Given the description of an element on the screen output the (x, y) to click on. 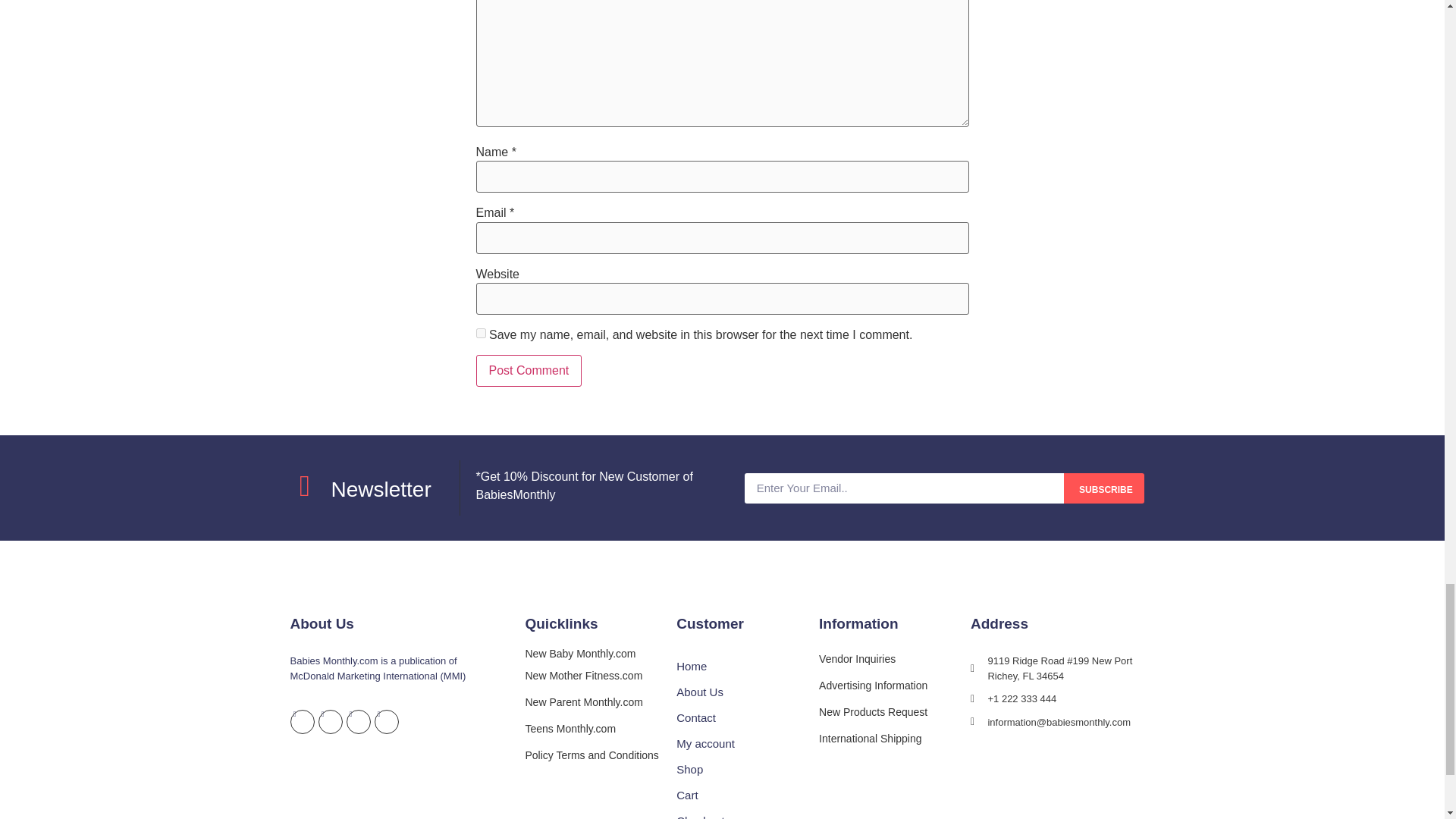
New Mother Fitness.com (583, 675)
Teens Monthly.com (569, 728)
Policy Terms and Conditions (591, 755)
New Parent Monthly.com (583, 702)
About Us (747, 692)
Post Comment (529, 370)
New Baby Monthly.com (579, 653)
Post Comment (529, 370)
My account (747, 743)
Home (747, 666)
SUBSCRIBE (1103, 488)
yes (481, 333)
Contact (747, 718)
